Given the description of an element on the screen output the (x, y) to click on. 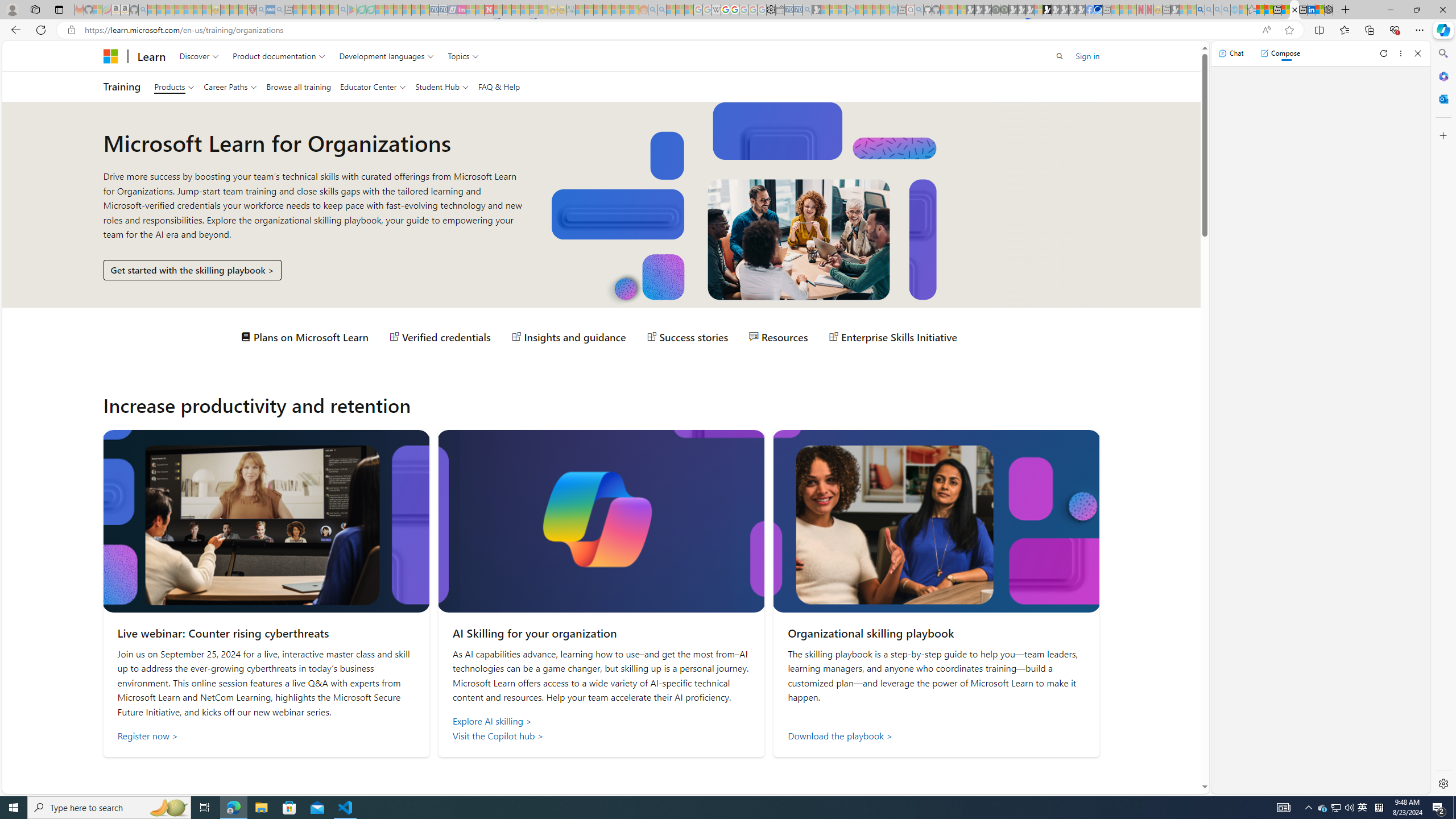
The Weather Channel - MSN - Sleeping (170, 9)
Jobs - lastminute.com Investor Portal - Sleeping (461, 9)
Cheap Car Rentals - Save70.com - Sleeping (798, 9)
Robert H. Shmerling, MD - Harvard Health - Sleeping (252, 9)
Educator Center (372, 86)
Success stories (687, 336)
Student Hub (441, 86)
